Given the description of an element on the screen output the (x, y) to click on. 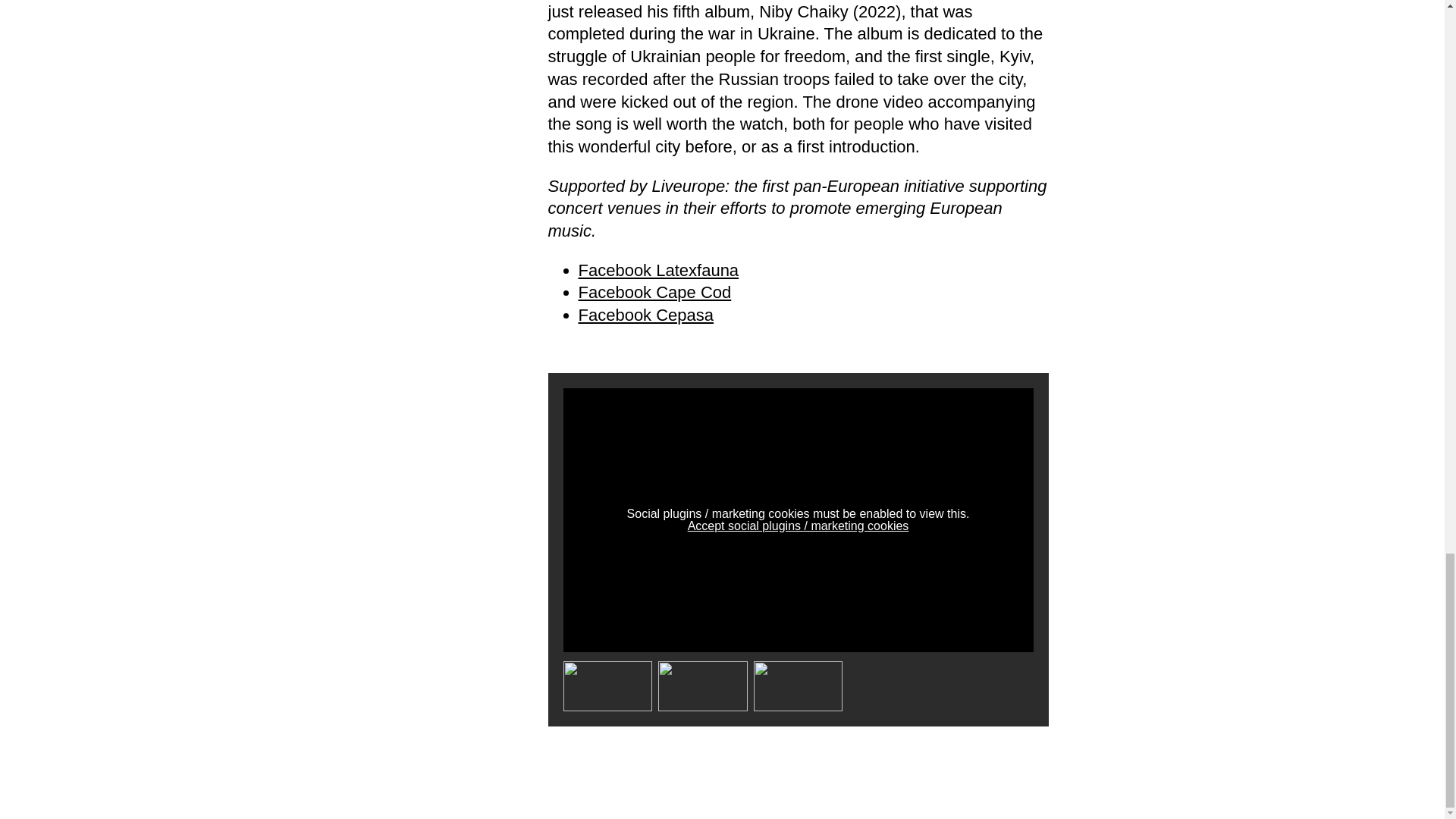
Play video 2 (703, 685)
Facebook Latexfauna (658, 270)
Play video 1 (607, 685)
Facebook Cepasa (645, 314)
Facebook Cape Cod (654, 292)
